Given the description of an element on the screen output the (x, y) to click on. 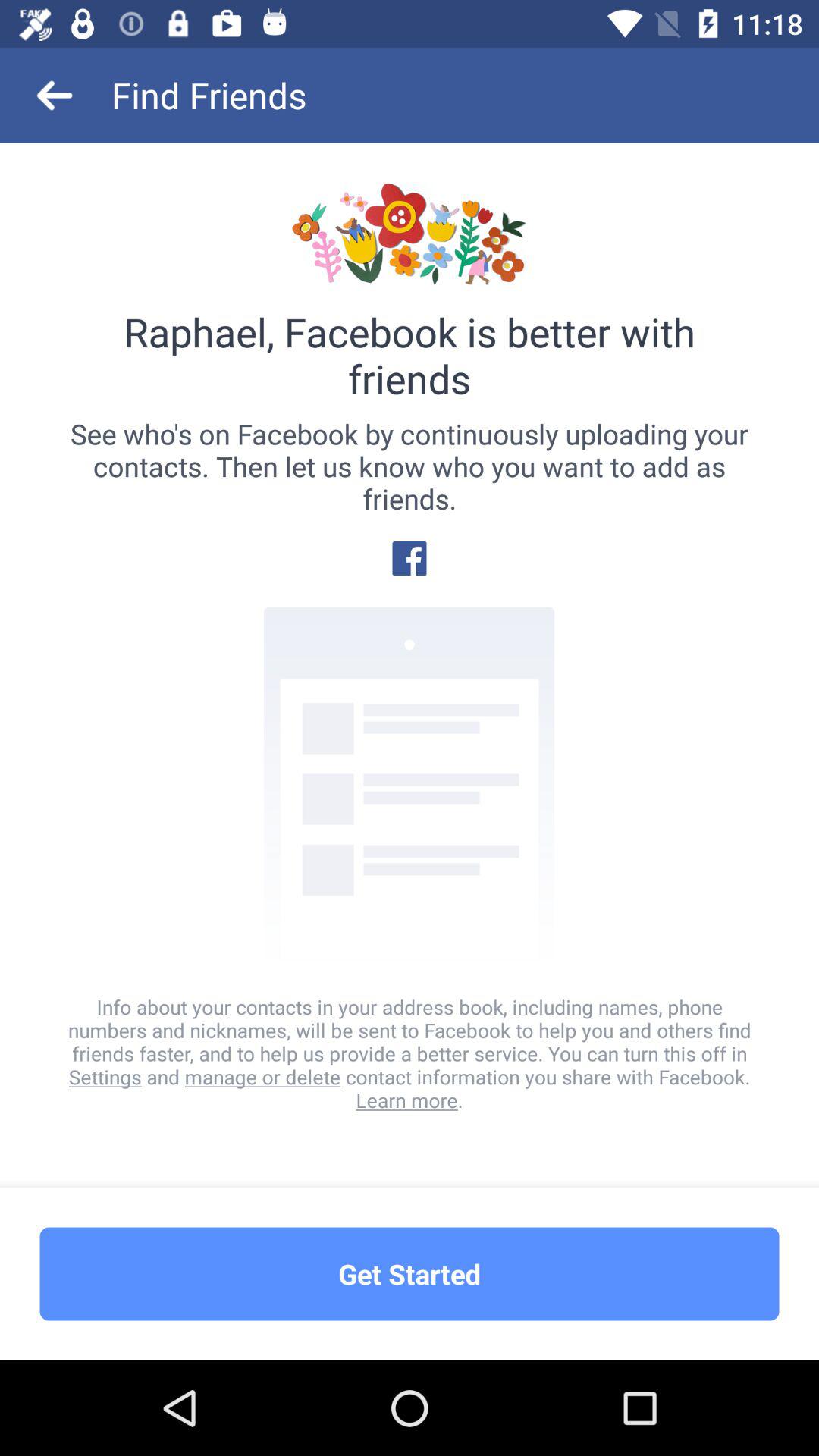
select the info about your item (409, 1053)
